Given the description of an element on the screen output the (x, y) to click on. 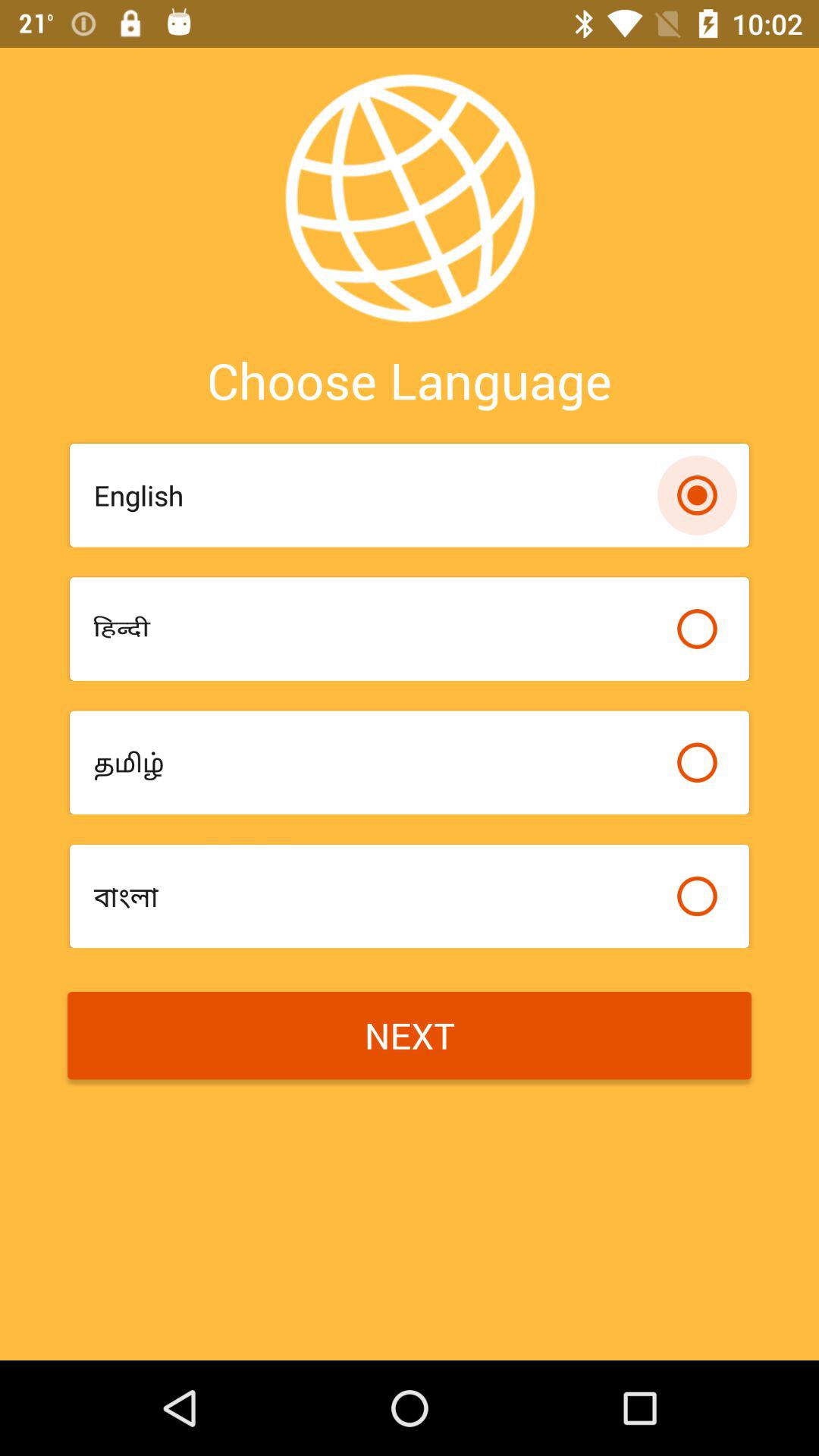
open fgunh (377, 628)
